Given the description of an element on the screen output the (x, y) to click on. 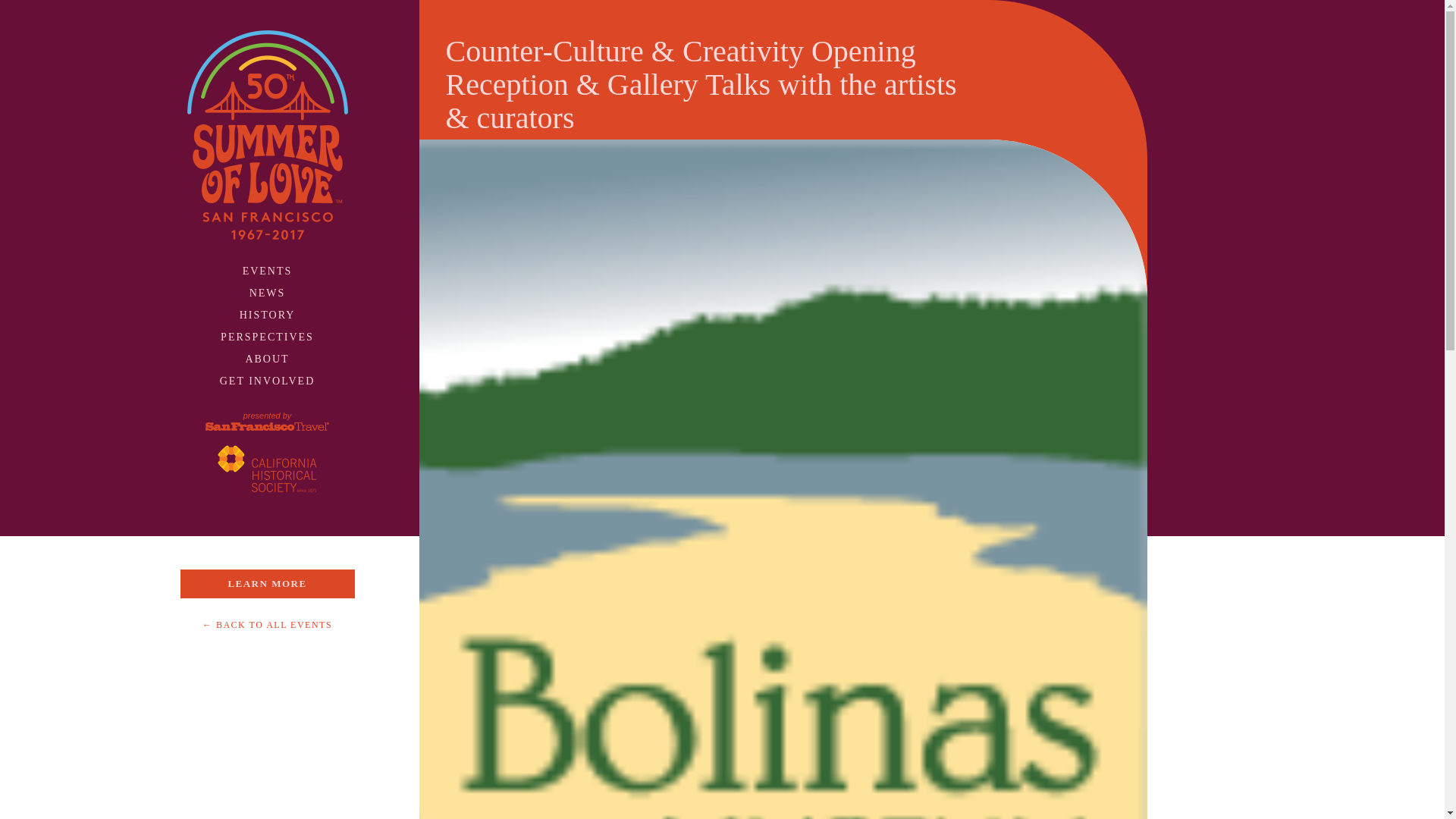
HISTORY (267, 315)
GET INVOLVED (267, 380)
EVENTS (267, 270)
PERSPECTIVES (267, 337)
ABOUT (266, 358)
LEARN MORE (267, 583)
NEWS (266, 292)
